Given the description of an element on the screen output the (x, y) to click on. 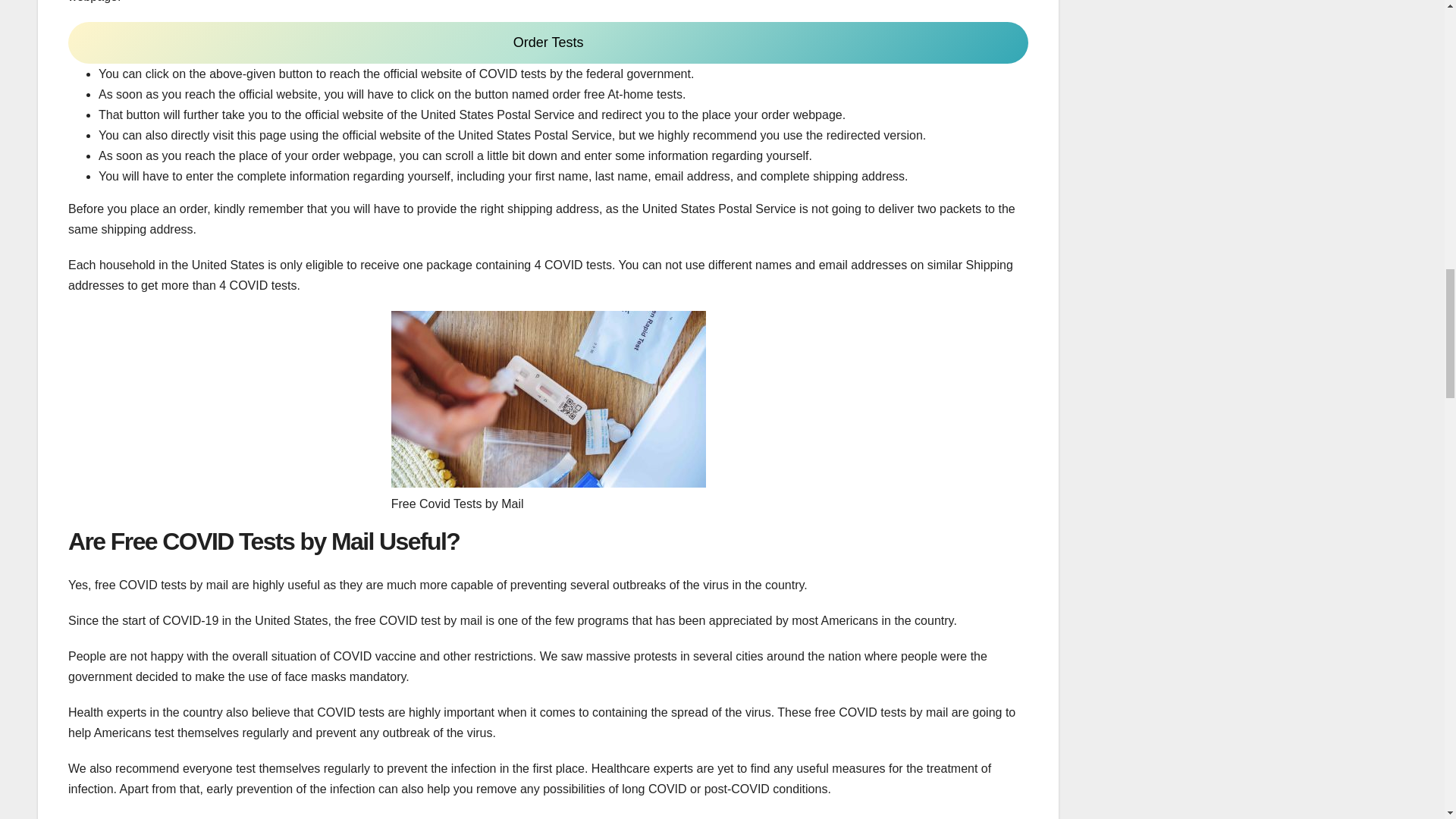
Order Tests (547, 42)
